Given the description of an element on the screen output the (x, y) to click on. 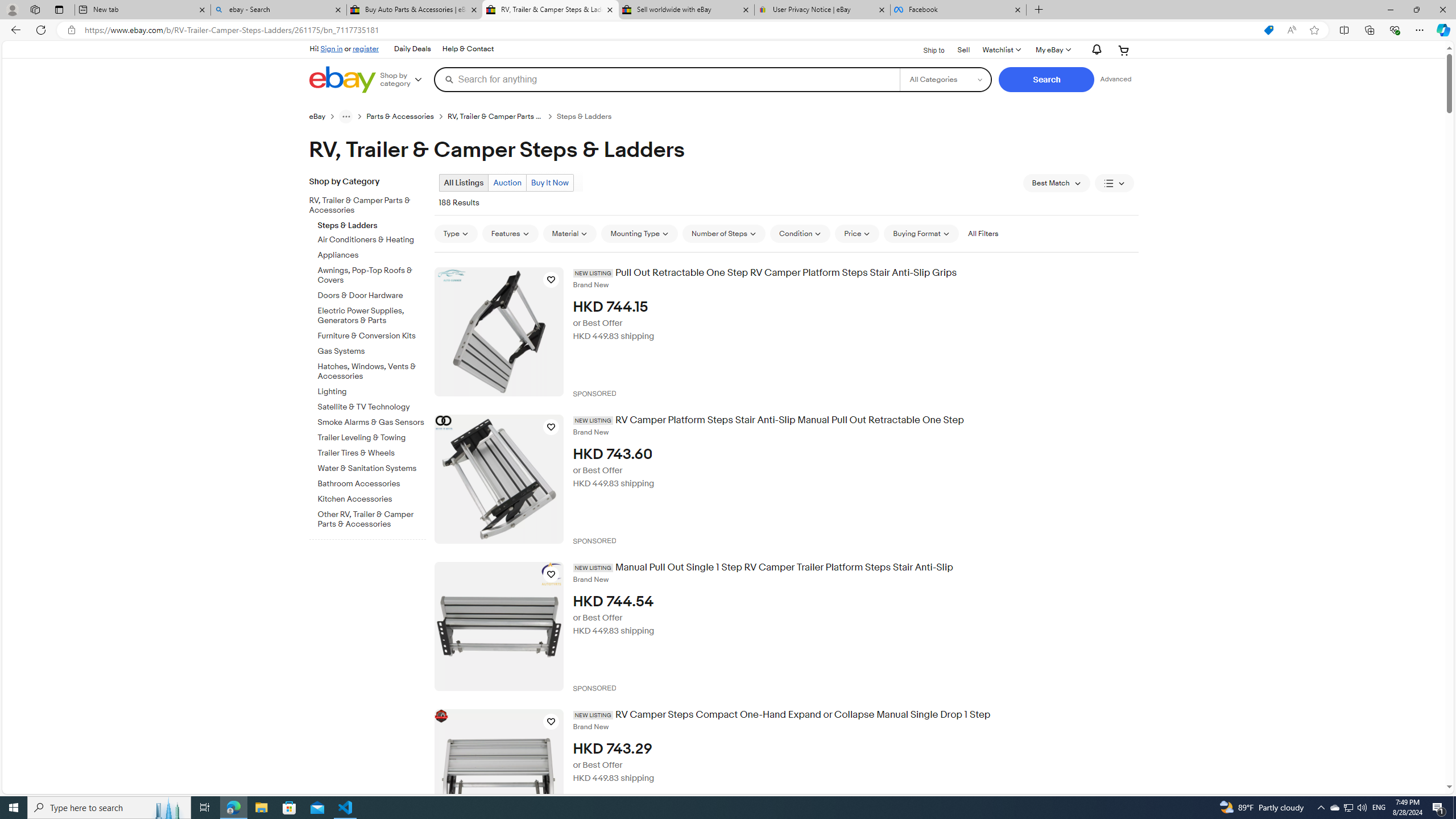
Trailer Leveling & Towing (371, 437)
